Given the description of an element on the screen output the (x, y) to click on. 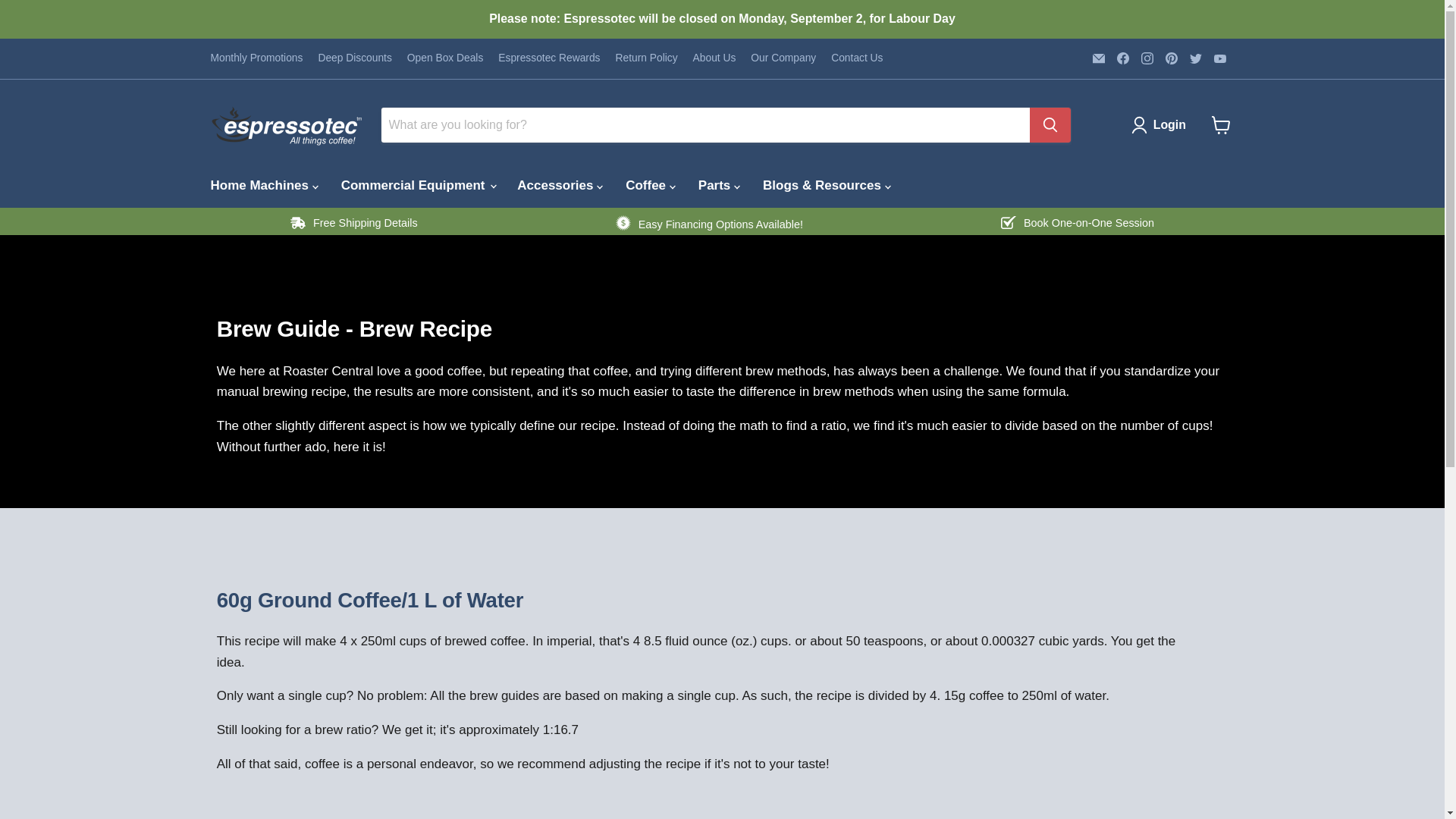
Facebook (1123, 57)
Find us on Facebook (1123, 57)
Open Box Deals (445, 58)
Email (1098, 57)
Return Policy (646, 58)
Twitter (1196, 57)
Monthly Promotions (256, 58)
Find us on Twitter (1196, 57)
Find us on Pinterest (1171, 57)
Espressotec Rewards (548, 58)
